Given the description of an element on the screen output the (x, y) to click on. 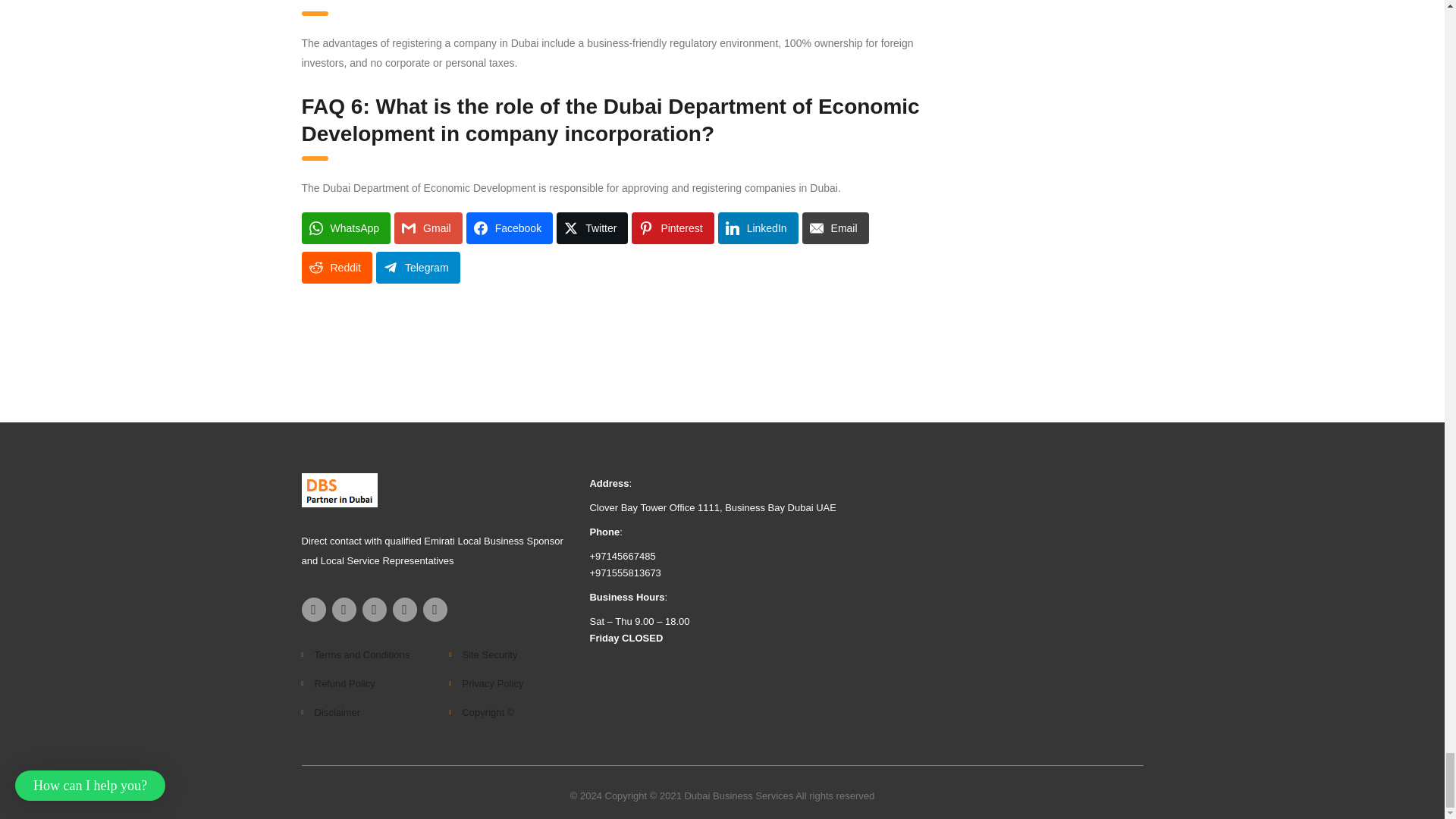
Share on Pinterest (672, 228)
Share on Gmail (428, 228)
Facebook (509, 228)
Share on WhatsApp (346, 228)
WhatsApp (346, 228)
Telegram (417, 267)
Share on Twitter (591, 228)
Share on Facebook (509, 228)
Email (835, 228)
Share on Email (835, 228)
